Given the description of an element on the screen output the (x, y) to click on. 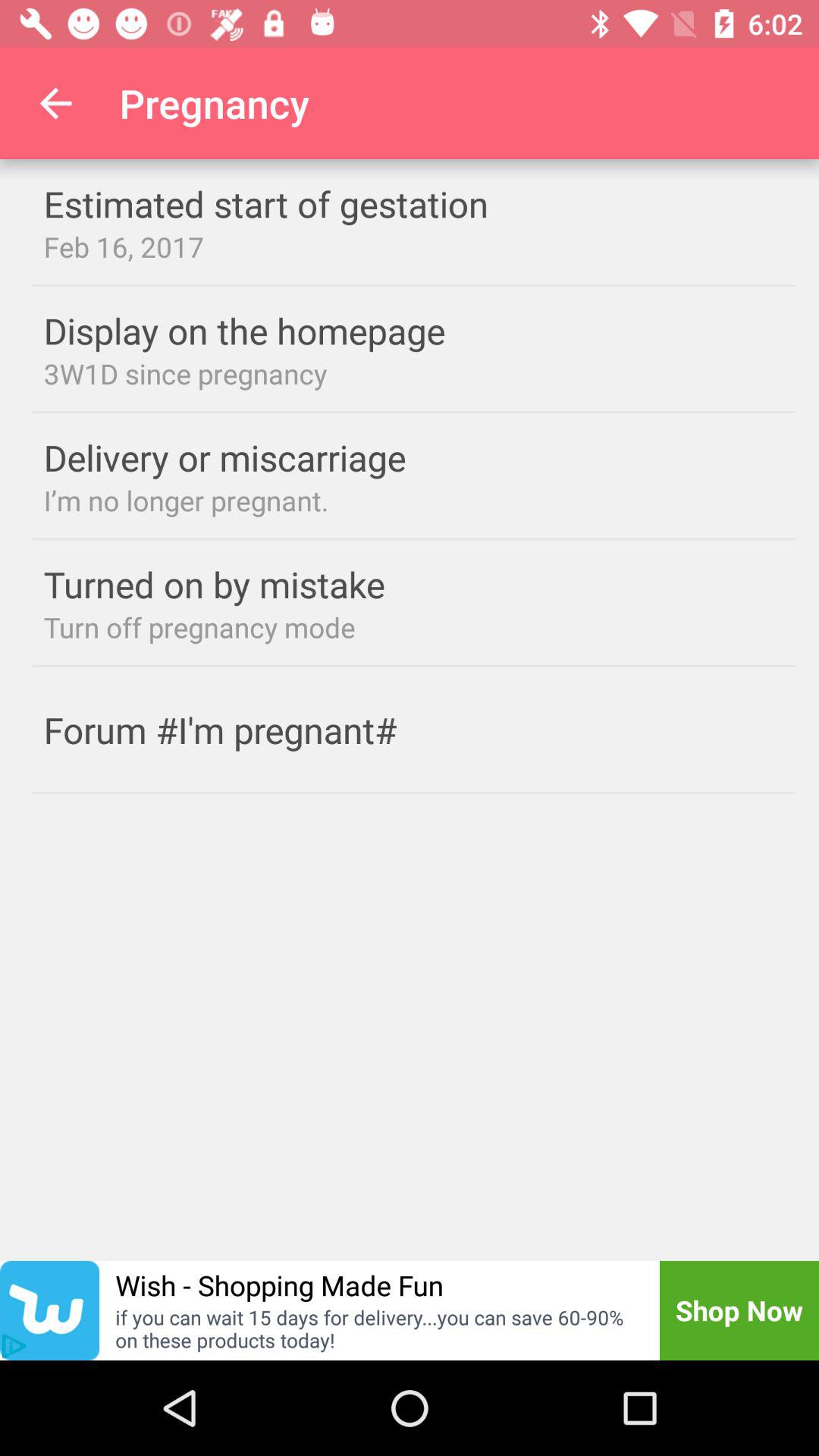
select the icon next to the shop now (279, 1285)
